Given the description of an element on the screen output the (x, y) to click on. 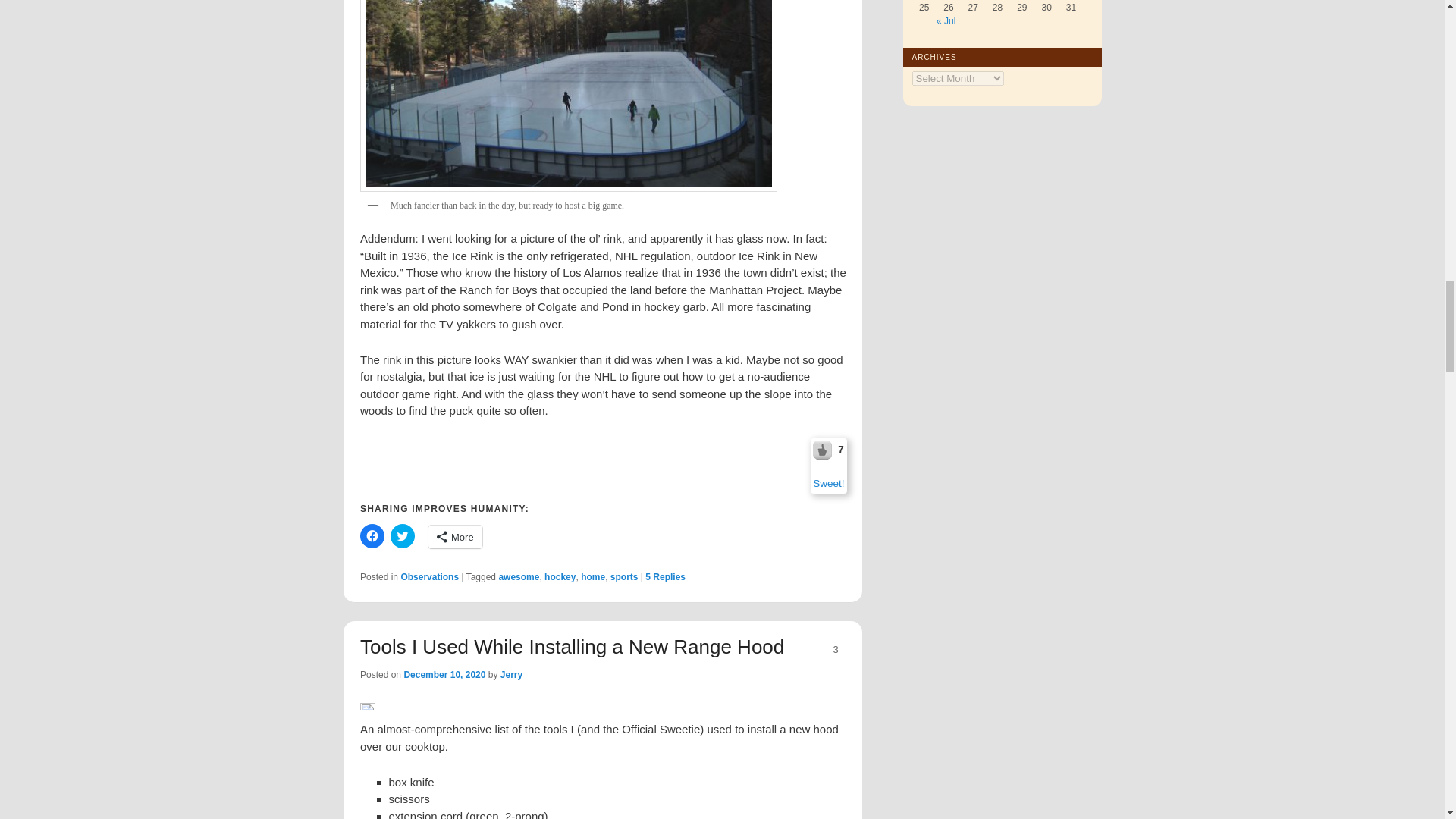
Sweet! (828, 482)
Click to share on Facebook (371, 535)
Click to share on Twitter (402, 535)
More (454, 536)
Sweet! (823, 449)
